Given the description of an element on the screen output the (x, y) to click on. 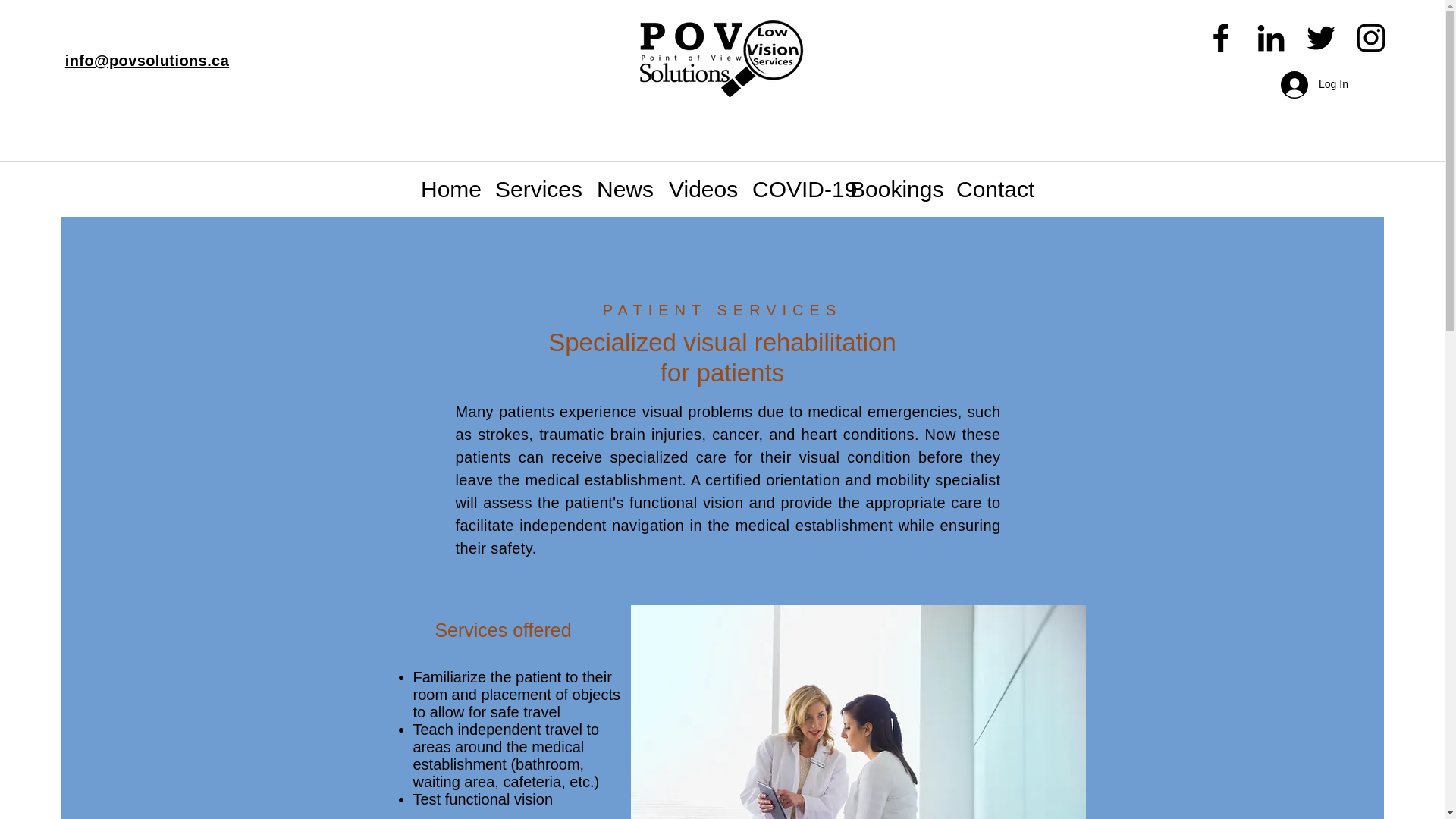
News (673, 189)
Videos (759, 189)
Home (480, 189)
COVID-19 (868, 189)
POV Solutions Low Vision Services Logo (714, 54)
Log In (1304, 84)
